Given the description of an element on the screen output the (x, y) to click on. 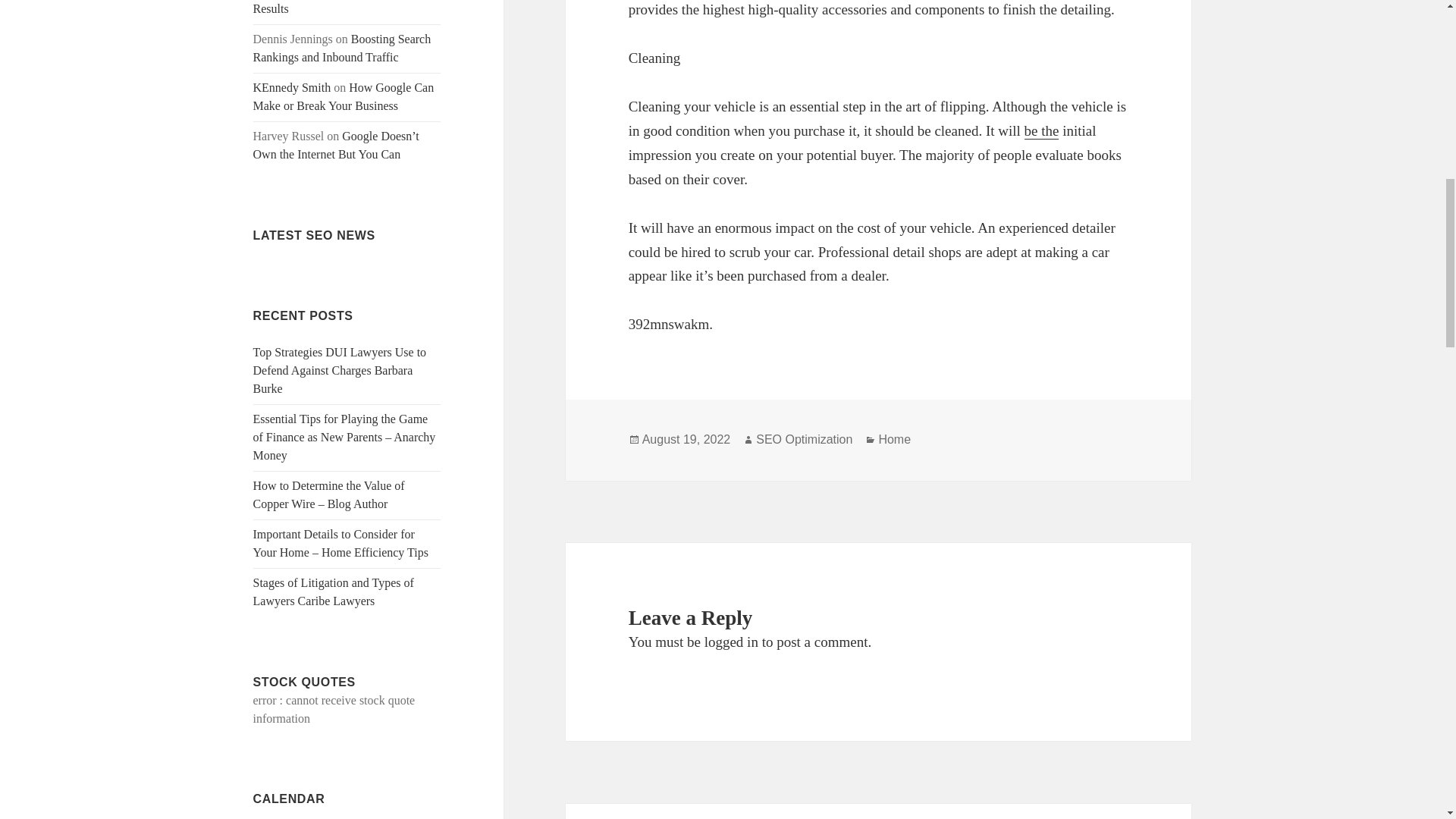
Stages of Litigation and Types of Lawyers Caribe Lawyers (333, 591)
How Google Can Make or Break Your Business (343, 96)
KEnnedy Smith (292, 87)
Boosting Search Rankings and Inbound Traffic (341, 47)
